Given the description of an element on the screen output the (x, y) to click on. 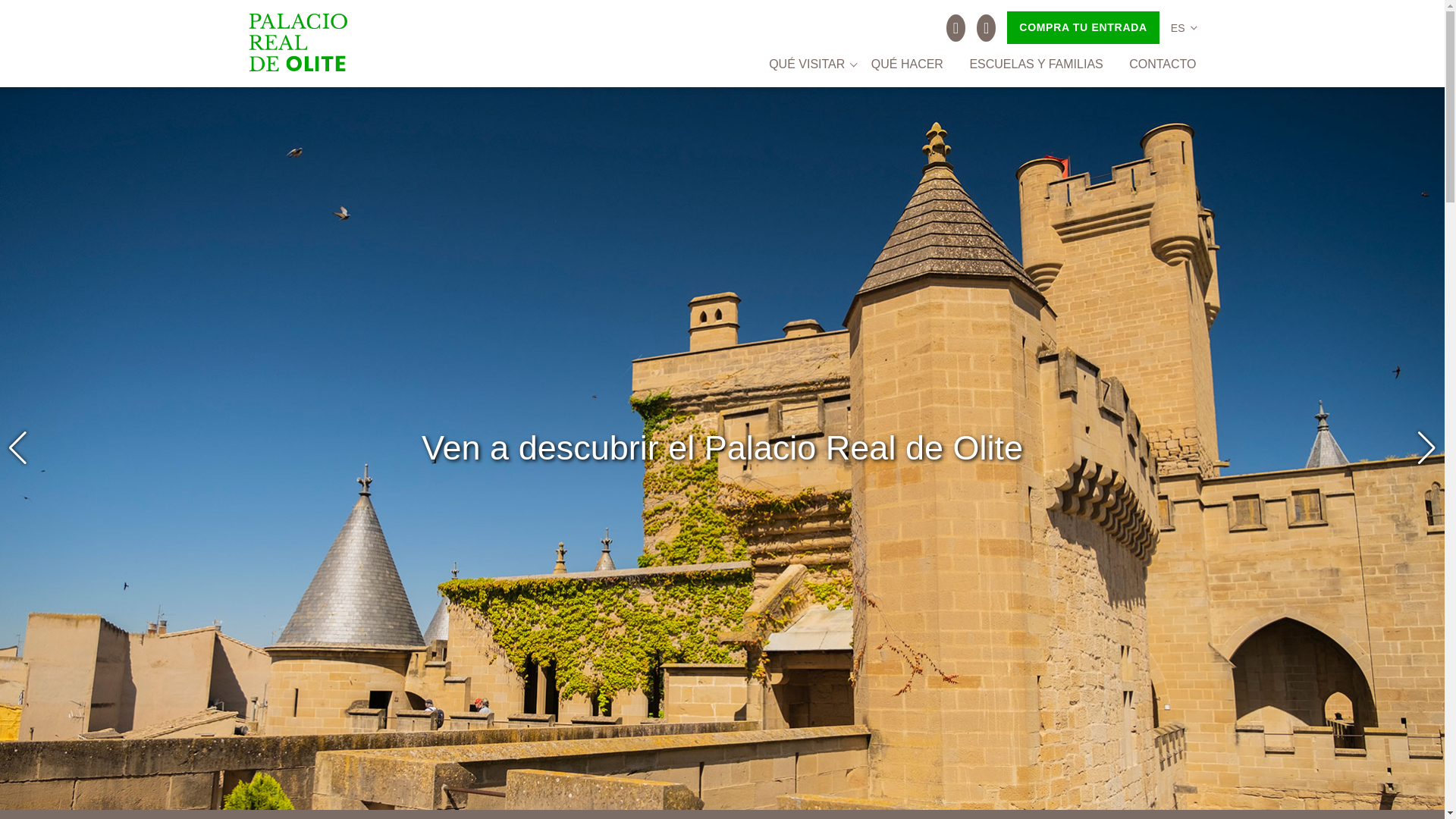
CONTACTO (1162, 63)
ESCUELAS Y FAMILIAS (1035, 63)
COMPRA TU ENTRADA (1082, 27)
